Given the description of an element on the screen output the (x, y) to click on. 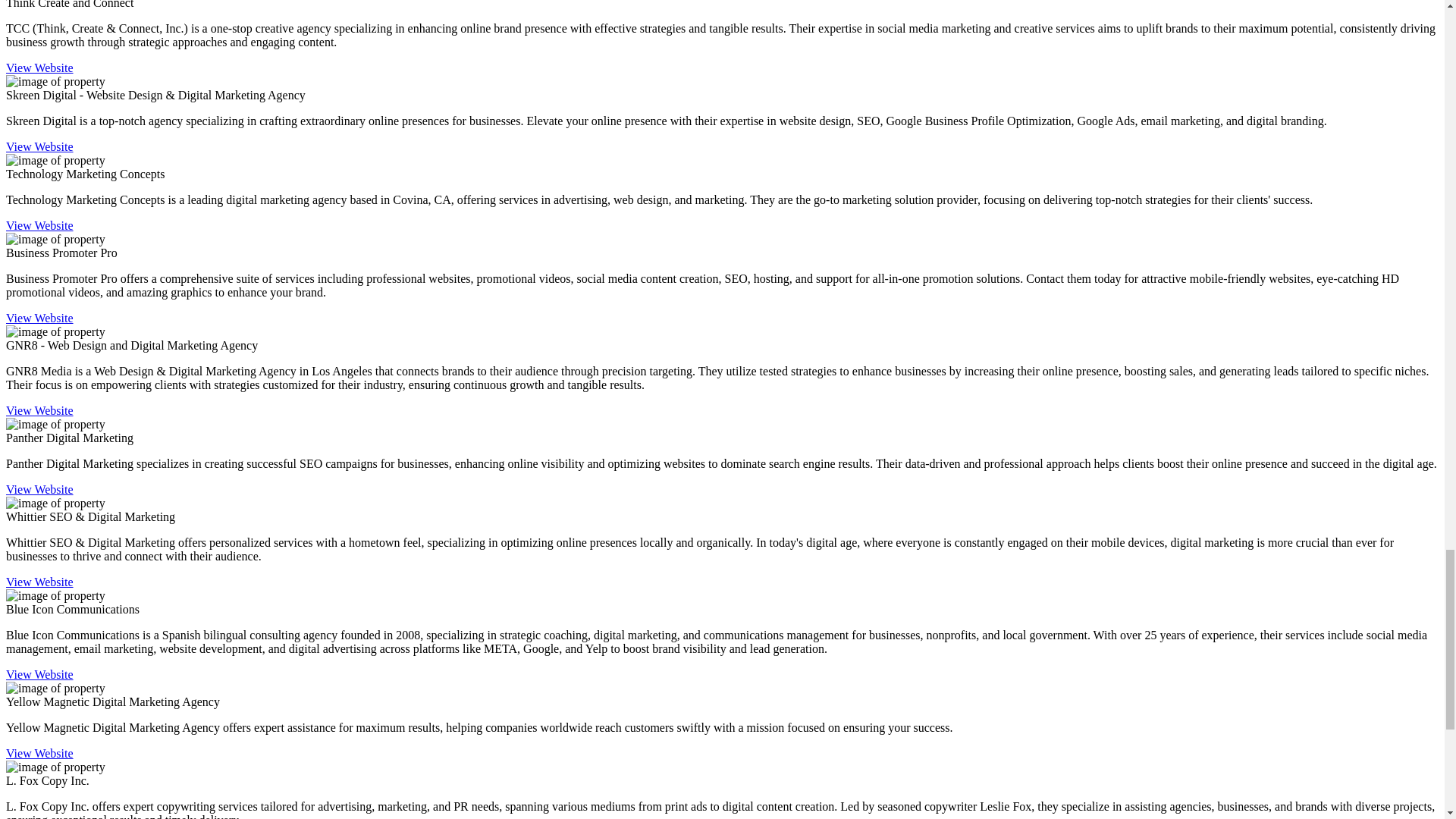
View Website (39, 318)
View Website (39, 146)
View Website (39, 67)
View Website (39, 225)
